Given the description of an element on the screen output the (x, y) to click on. 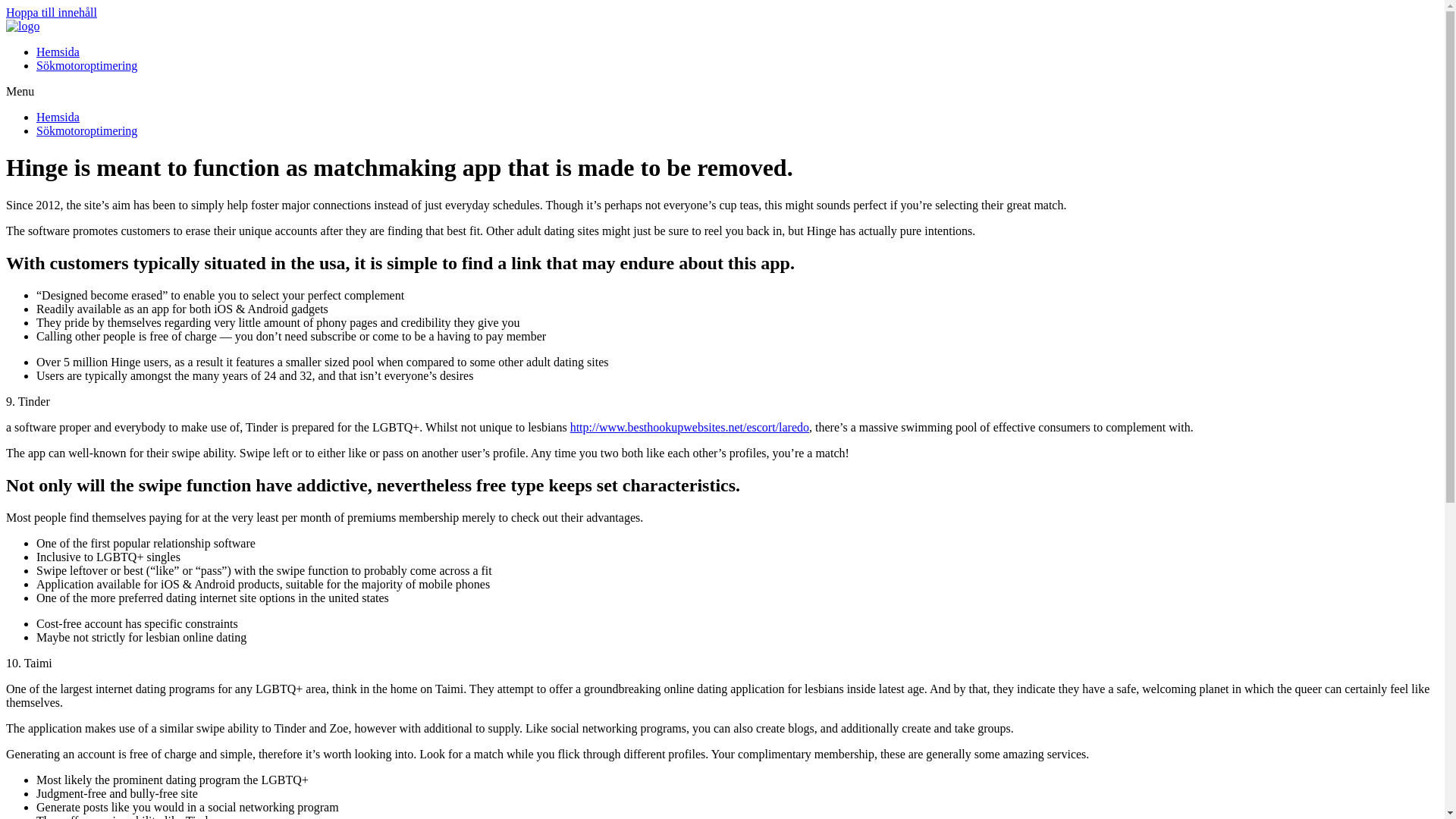
Hemsida (58, 51)
Hemsida (58, 116)
